Given the description of an element on the screen output the (x, y) to click on. 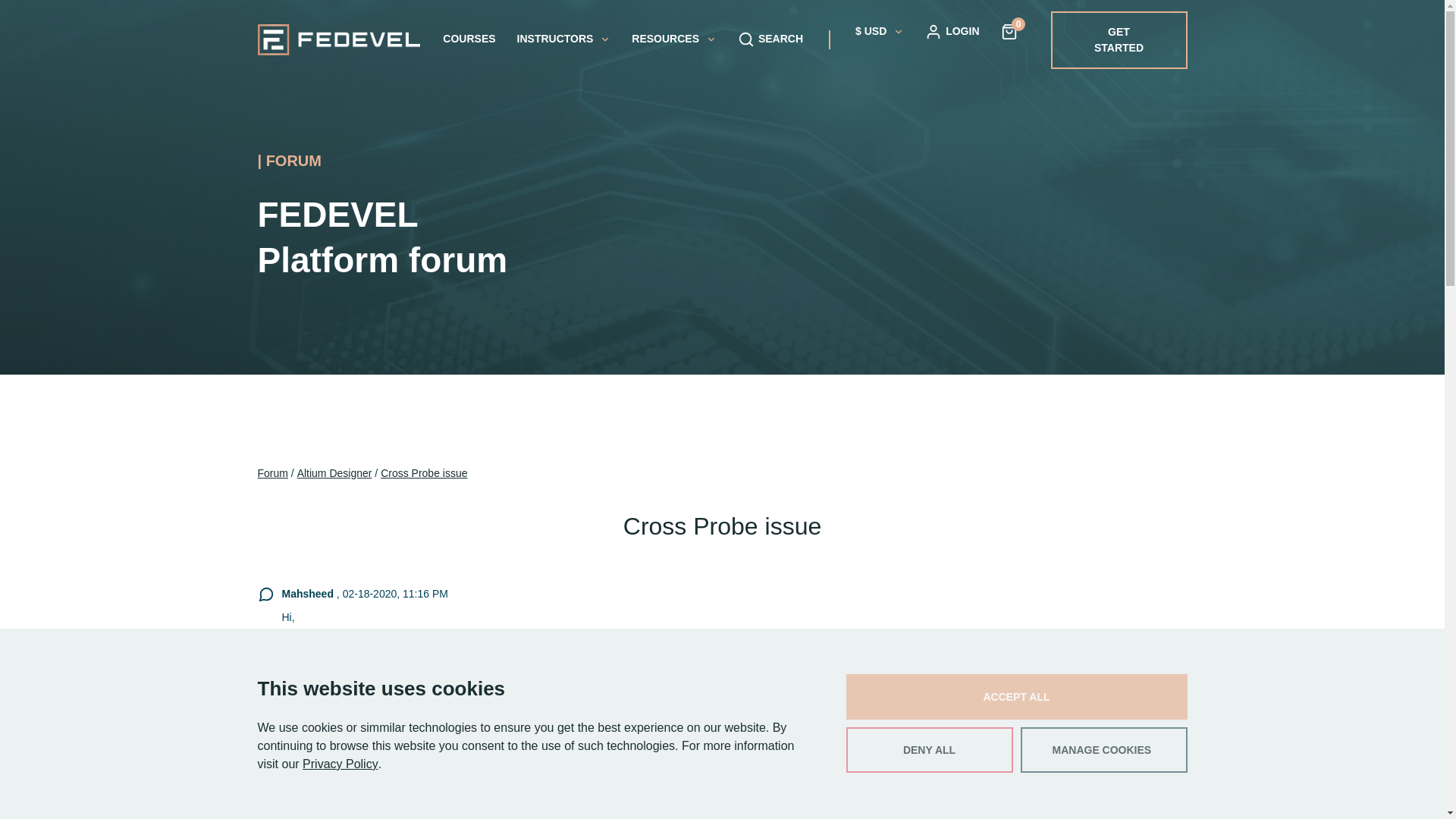
0 (1009, 30)
Cross Probe issue (423, 473)
Forum (272, 473)
ACCEPT ALL (1016, 696)
GET STARTED (1119, 38)
COURSES (468, 38)
INSTRUCTORS  (563, 38)
LOGIN (951, 30)
Altium Designer (334, 473)
Privacy Policy (340, 764)
